Given the description of an element on the screen output the (x, y) to click on. 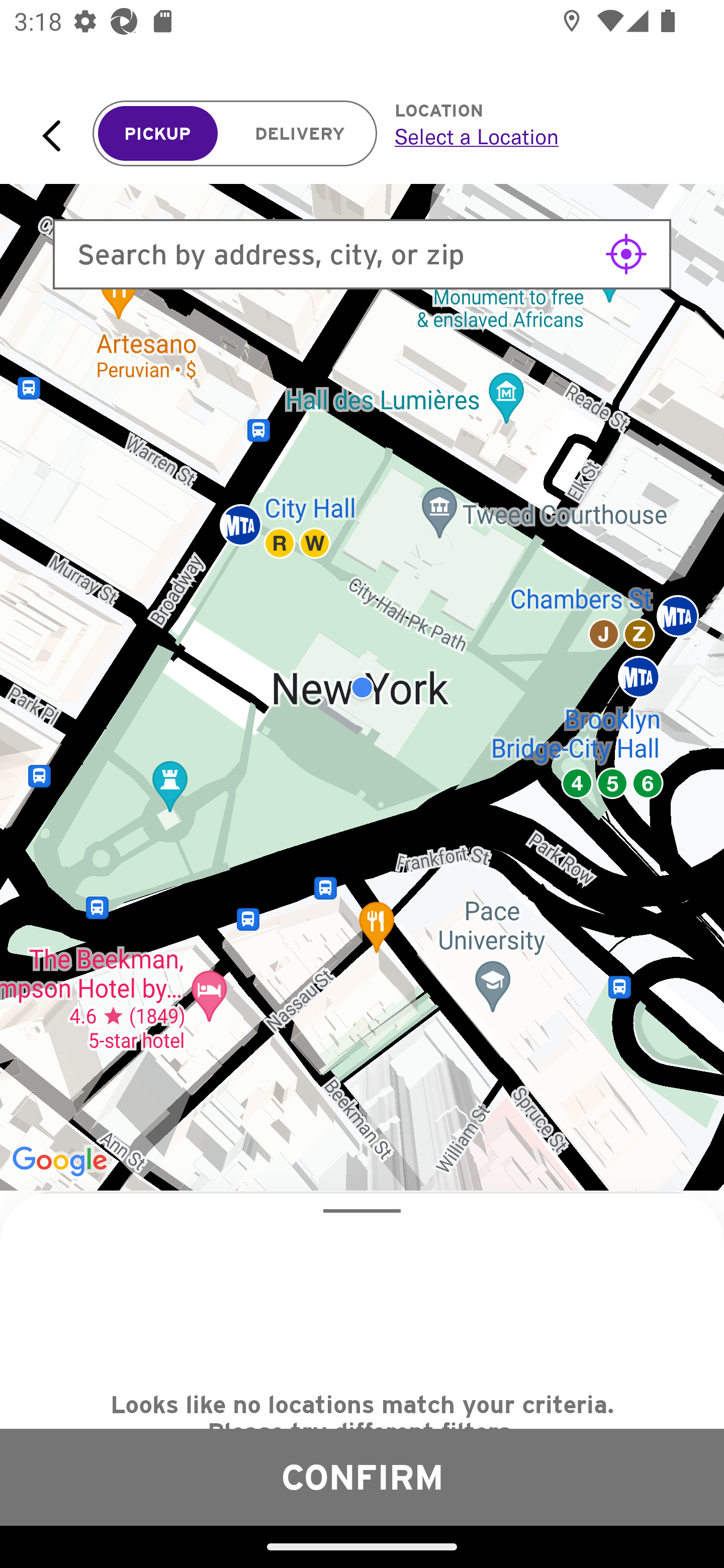
PICKUP (157, 133)
DELIVERY (299, 133)
Select a Location (536, 136)
Search by address, city, or zip (361, 254)
CONFIRM (362, 1476)
